Given the description of an element on the screen output the (x, y) to click on. 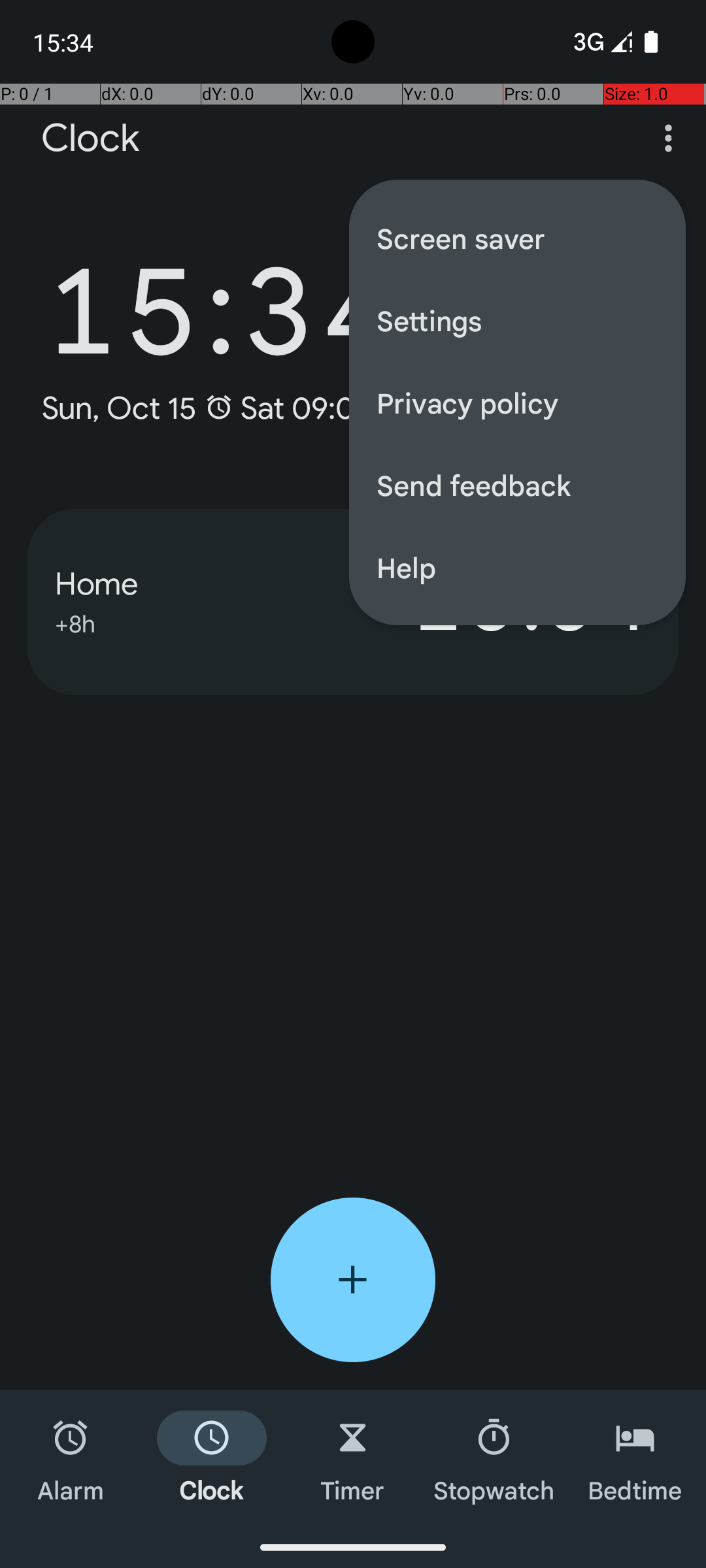
Screen saver Element type: android.widget.TextView (517, 237)
